Given the description of an element on the screen output the (x, y) to click on. 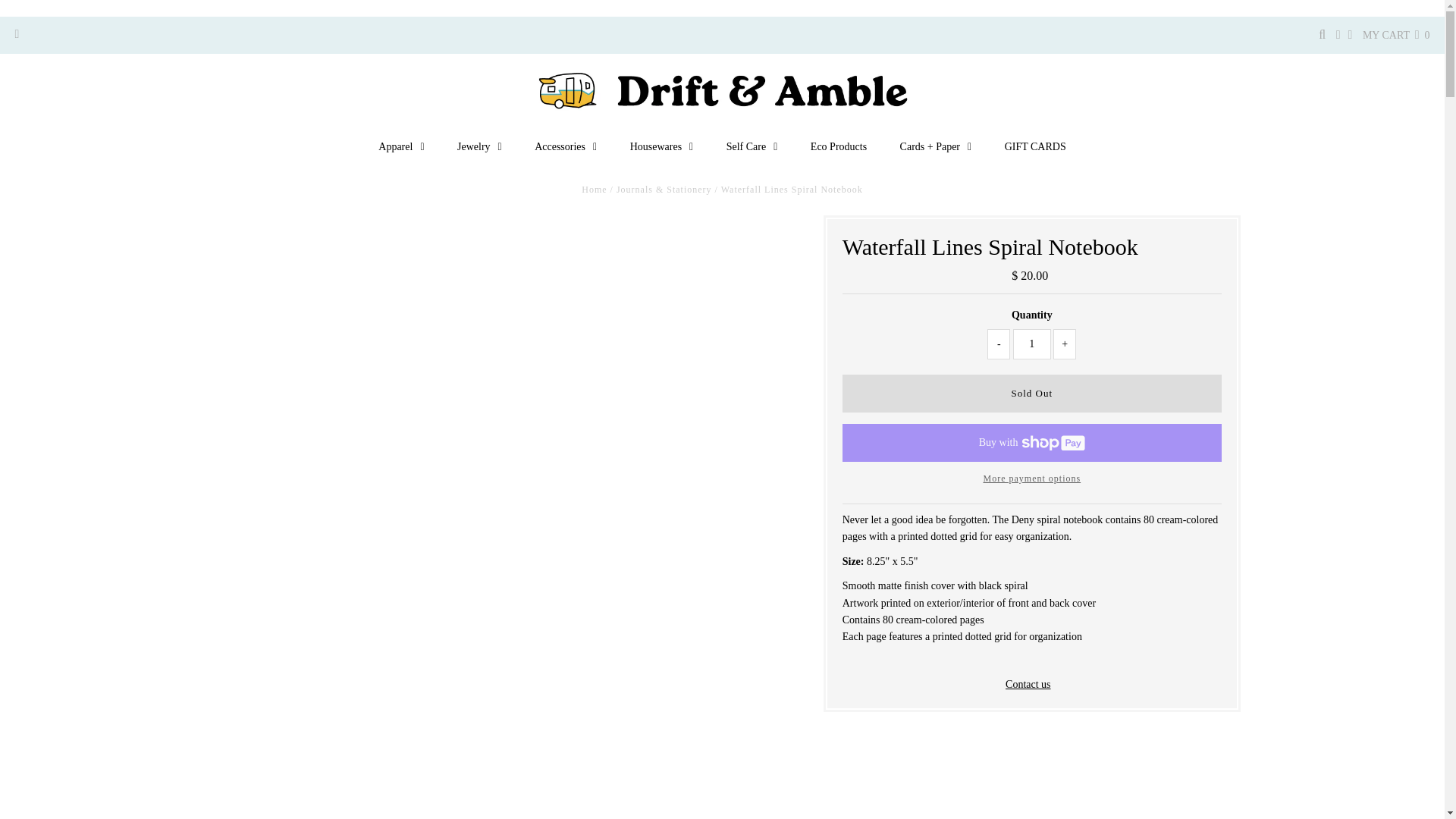
Apparel (400, 146)
1 (1032, 344)
Sold Out (1032, 393)
Jewelry (479, 146)
Home (593, 189)
MY CART    0 (1395, 34)
Accessories (565, 146)
